Given the description of an element on the screen output the (x, y) to click on. 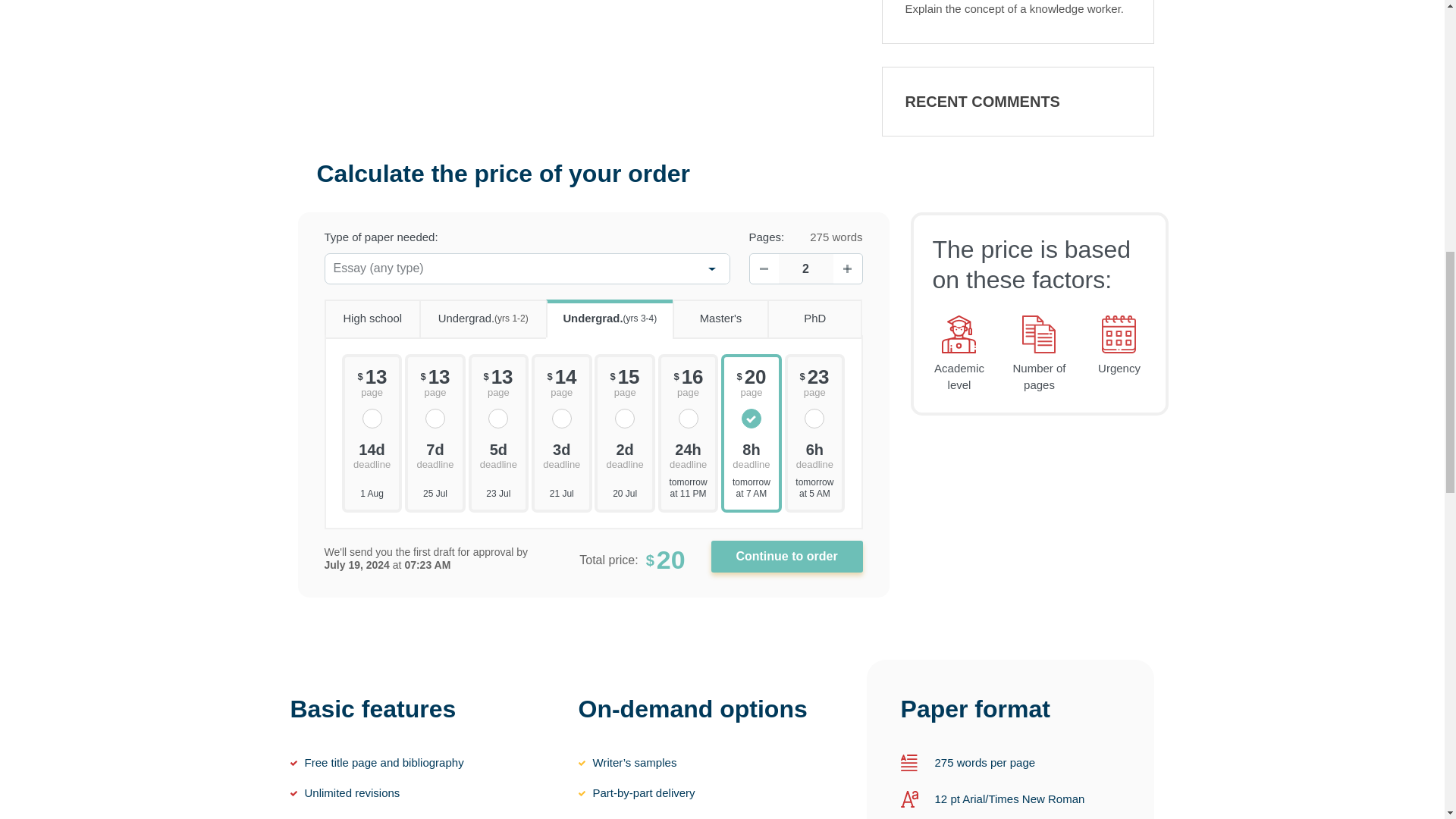
24 hours (688, 454)
2 (804, 268)
8 hours (751, 454)
3 days (561, 454)
Continue to order (787, 556)
Continue to order (787, 556)
6 hours (815, 454)
2 days (624, 454)
7 days (435, 454)
14 days (372, 454)
Increase (846, 268)
5 days (499, 454)
Decrease (763, 268)
Explain the concept of a knowledge worker. (1014, 8)
